Given the description of an element on the screen output the (x, y) to click on. 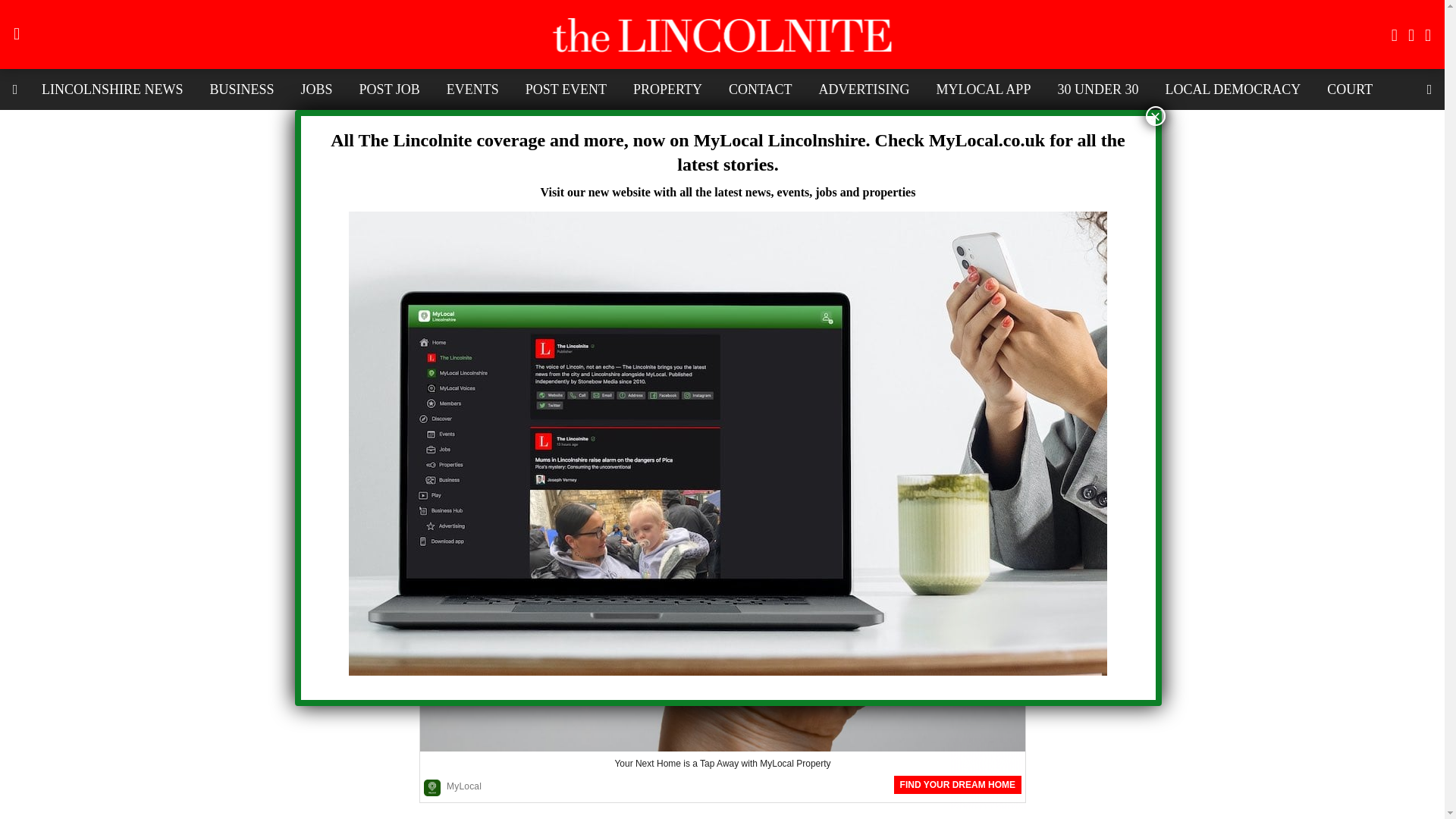
PROPERTY (667, 88)
POST JOB (388, 88)
MYLOCAL APP (983, 88)
LINCOLNSHIRE NEWS (112, 88)
JOBS (316, 88)
POST EVENT (565, 88)
ADVERTISING (864, 88)
30 UNDER 30 (1097, 88)
BUSINESS (241, 88)
EVENTS (473, 88)
CONTACT (760, 88)
LOCAL DEMOCRACY (1232, 88)
COURT (1350, 88)
